Given the description of an element on the screen output the (x, y) to click on. 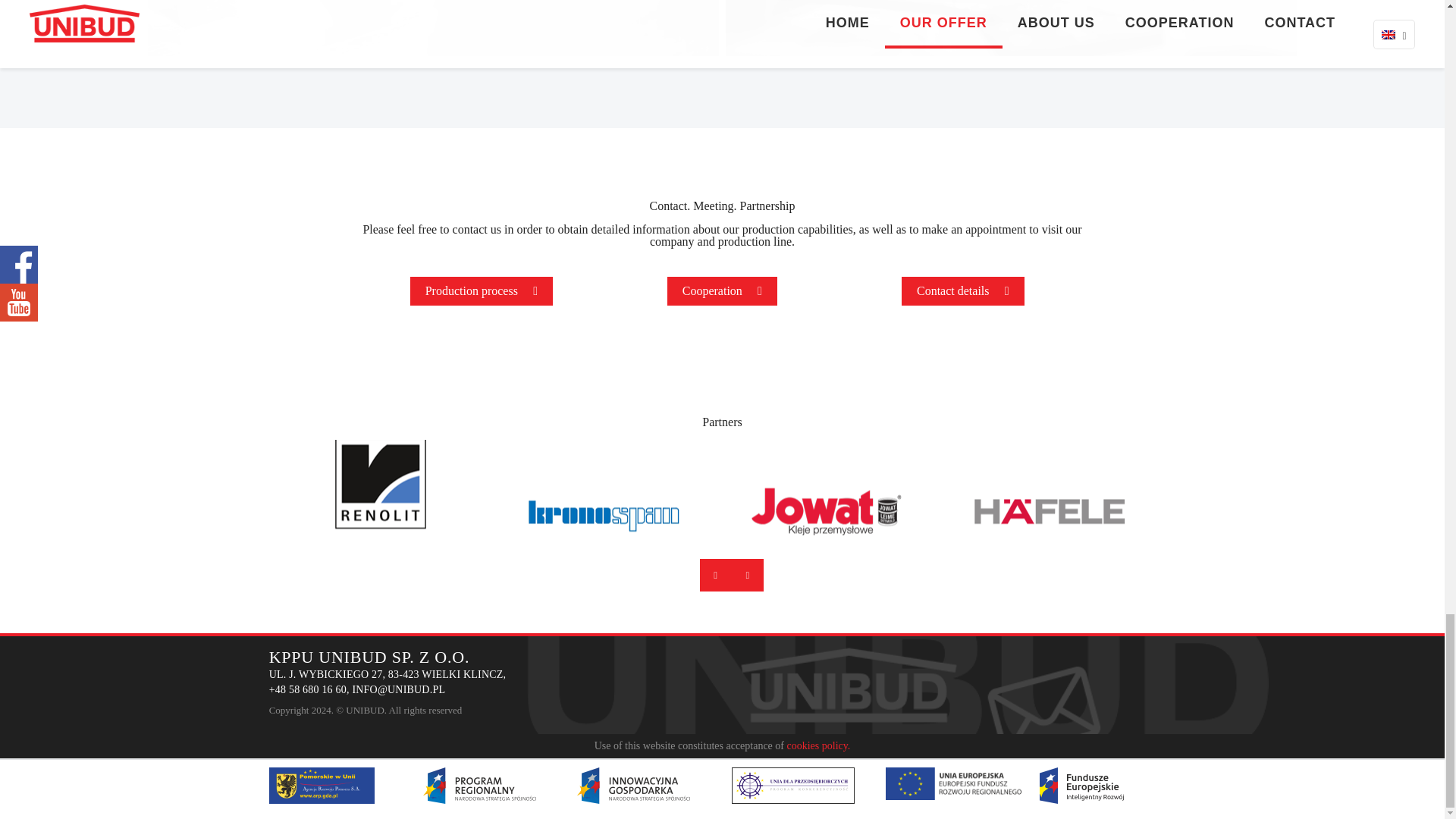
Housings of gambling machines (1011, 28)
Production of bathroom, kitchen and hotel furniture (433, 28)
